Given the description of an element on the screen output the (x, y) to click on. 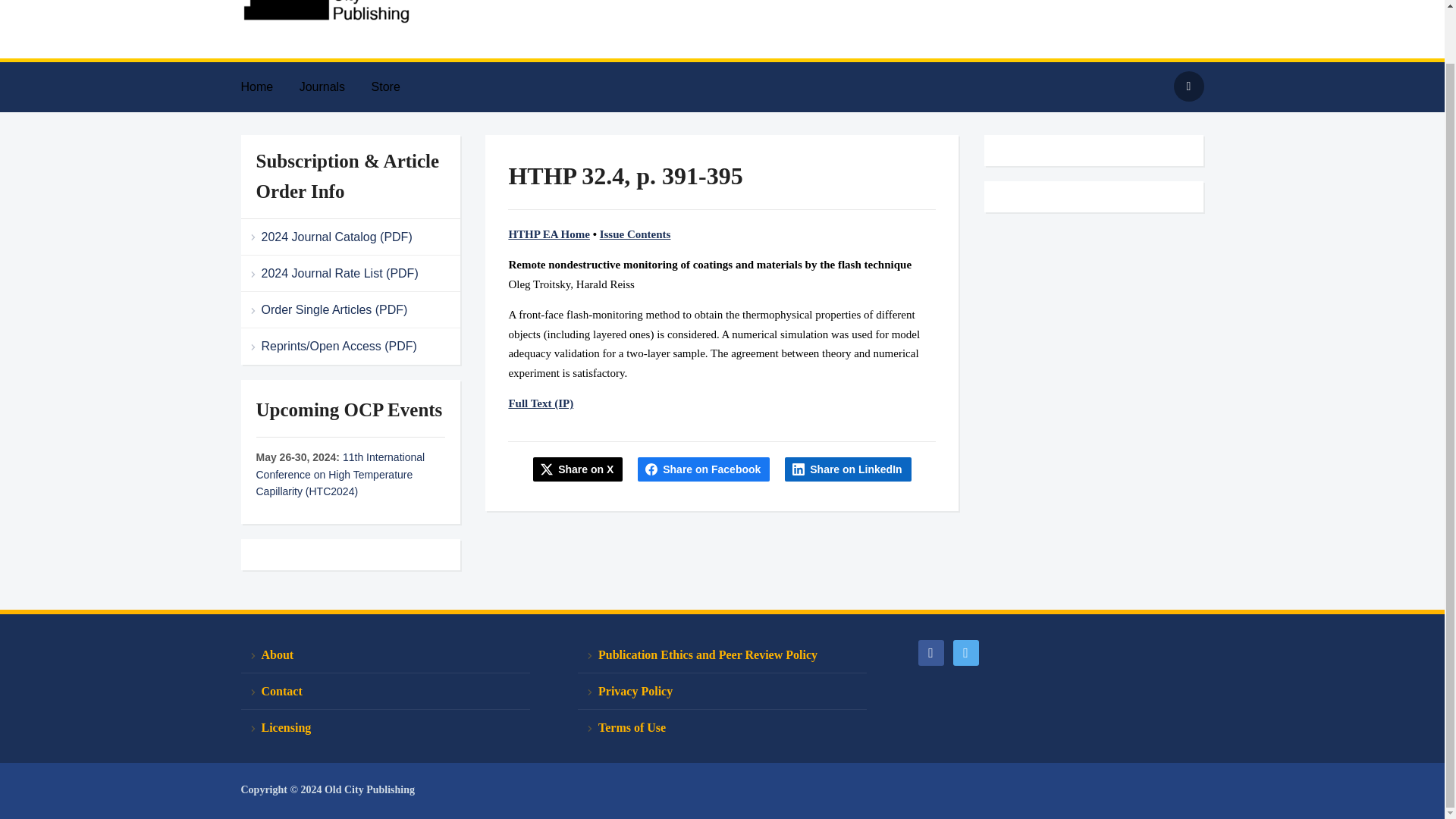
Contact (385, 691)
Journals (333, 86)
Store (397, 86)
twitter (965, 650)
About (385, 655)
Friend me on Facebook (930, 650)
Share this on X (577, 469)
Publication Ethics and Peer Review Policy (722, 655)
Share this on Facebook (703, 469)
Home (269, 86)
Privacy Policy (722, 691)
Licensing (385, 727)
Share on X (577, 469)
Terms of Use (722, 727)
Share on LinkedIn (847, 469)
